Given the description of an element on the screen output the (x, y) to click on. 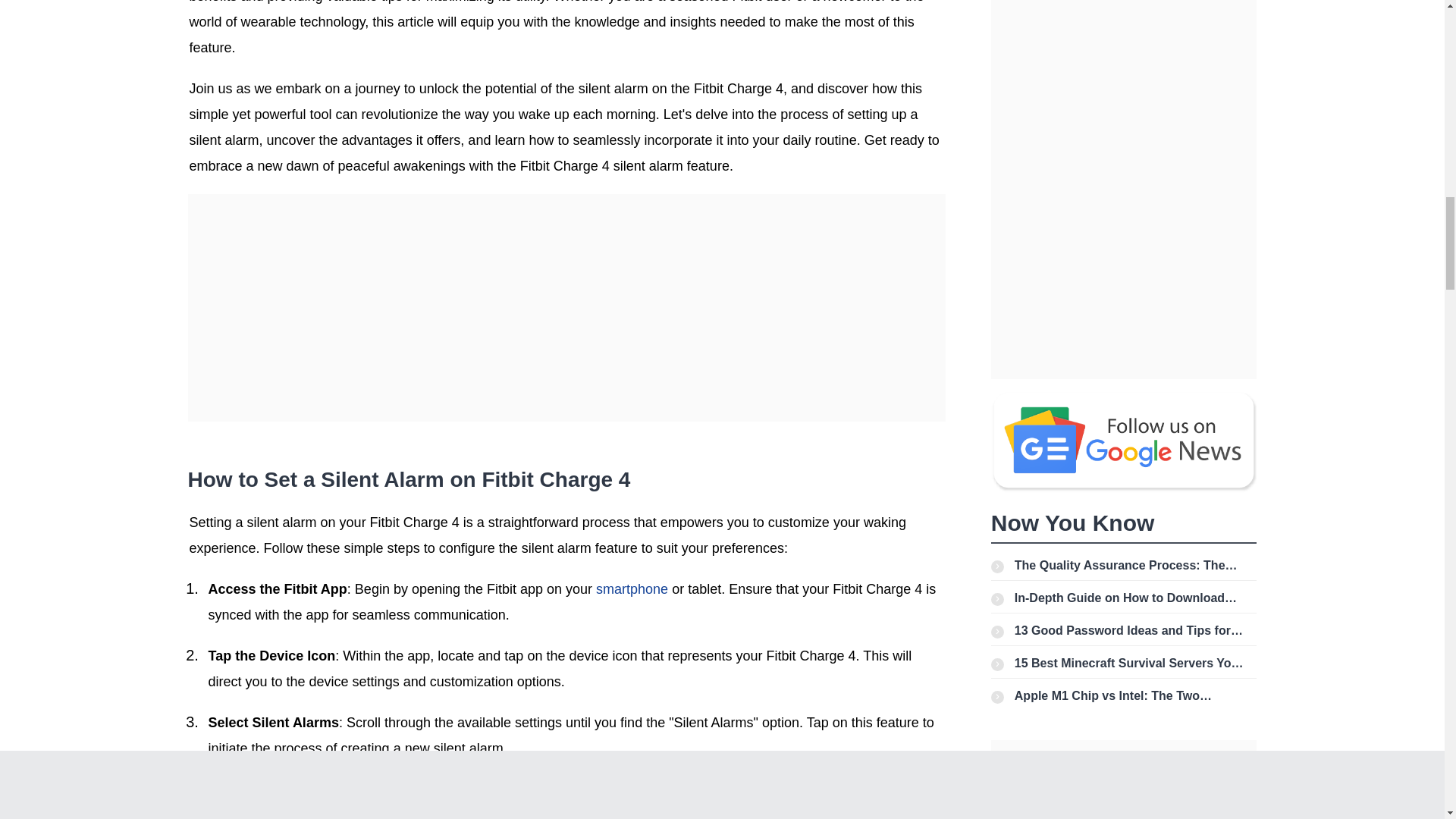
smartphone (631, 589)
